Given the description of an element on the screen output the (x, y) to click on. 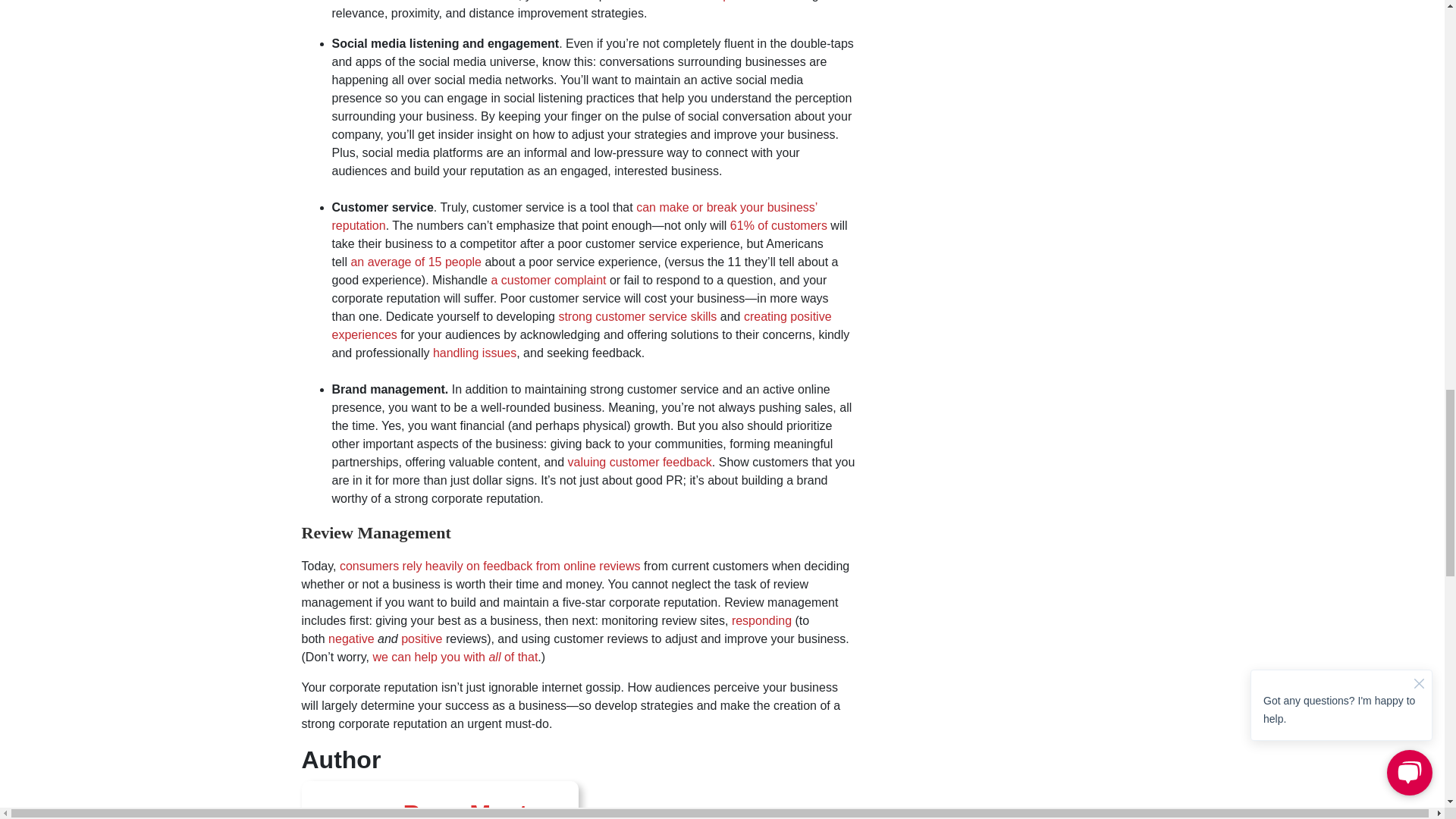
PawnMaster (477, 809)
